Given the description of an element on the screen output the (x, y) to click on. 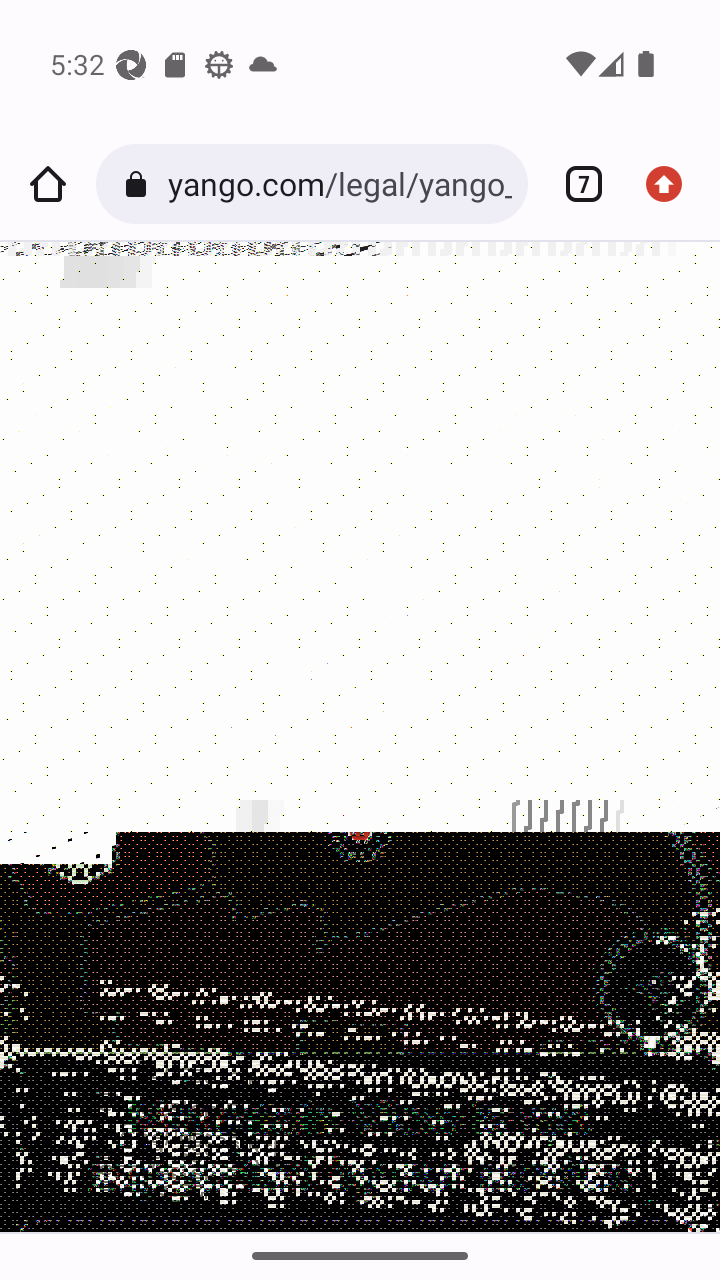
Home (47, 184)
Connection is secure (139, 184)
Switch or close tabs (575, 184)
Update available. More options (672, 184)
yango.com/legal/yango_mobile_agreement/?lang%3Den (339, 184)
